Given the description of an element on the screen output the (x, y) to click on. 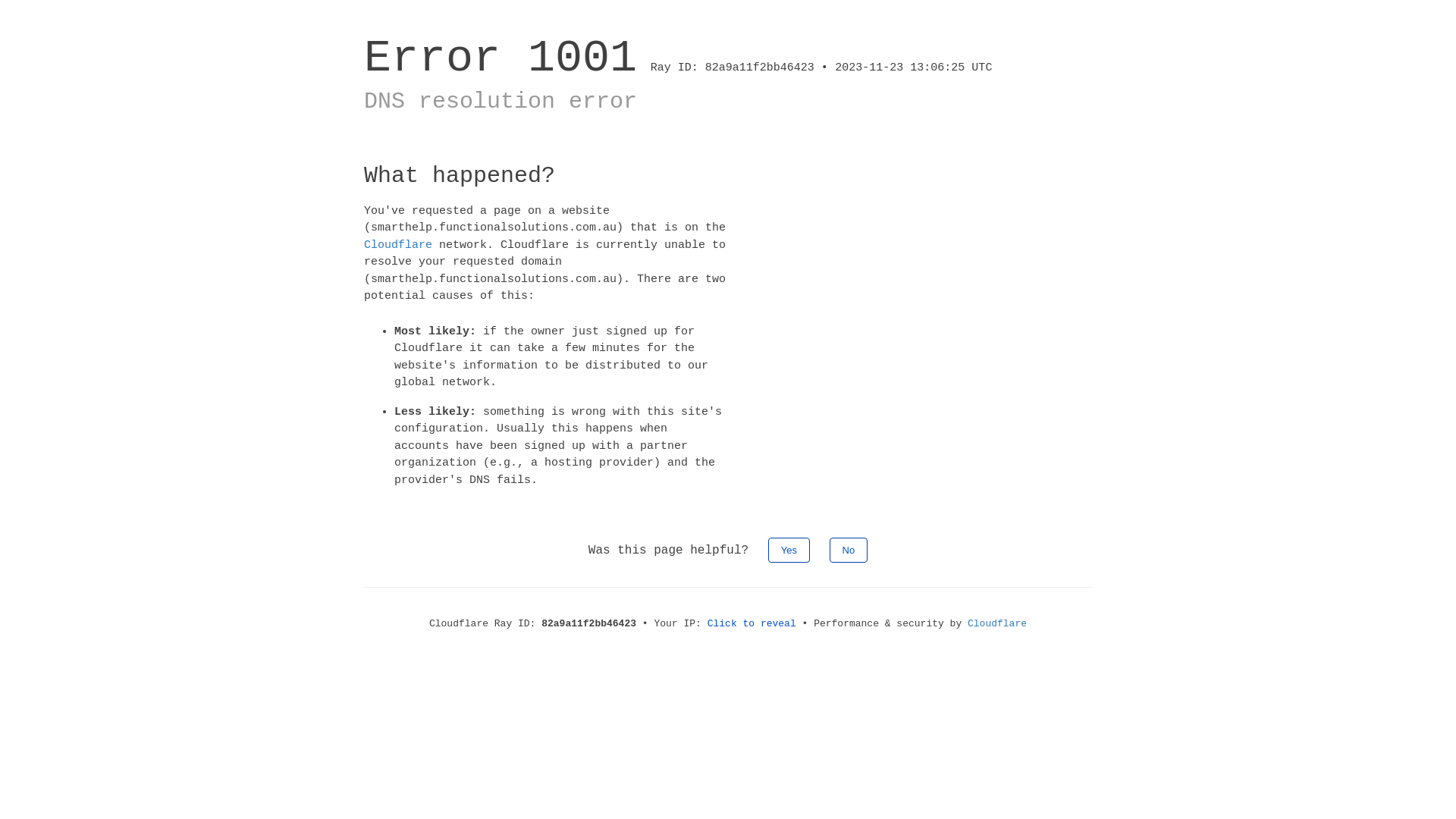
Cloudflare Element type: text (996, 623)
No Element type: text (848, 549)
Yes Element type: text (788, 549)
Click to reveal Element type: text (751, 623)
Cloudflare Element type: text (398, 244)
